Given the description of an element on the screen output the (x, y) to click on. 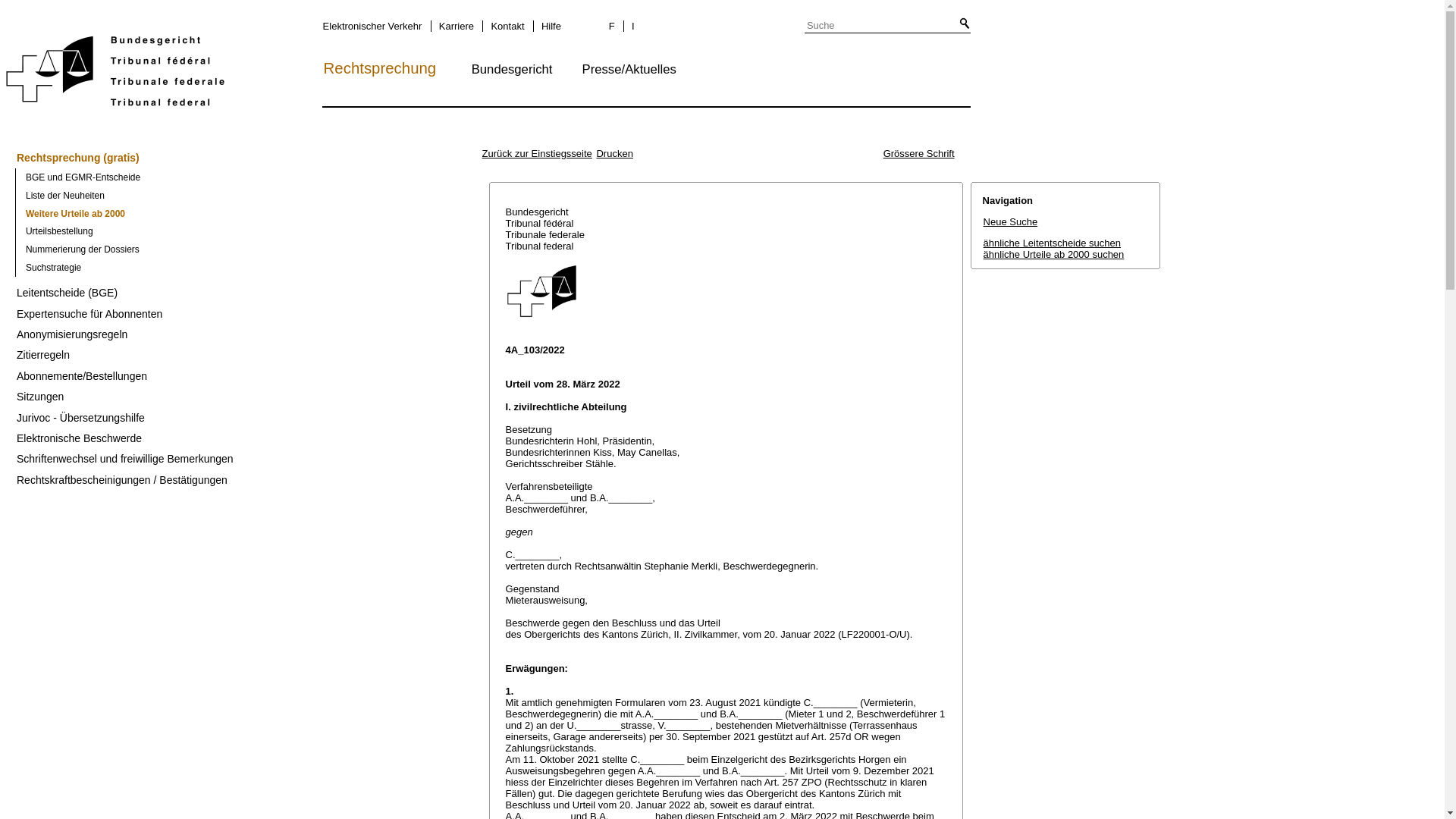
Bundesgericht Element type: text (524, 69)
F Element type: text (614, 25)
Kontakt Element type: text (506, 25)
Rechtsprechung Element type: text (395, 68)
Suchstrategie Element type: text (226, 267)
Hilfe Element type: text (550, 25)
Presse/Aktuelles Element type: text (641, 69)
Anonymisierungsregeln Element type: text (221, 334)
BGE und EGMR-Entscheide Element type: text (226, 177)
Rechtsprechung (gratis) Element type: text (221, 157)
Urteilsbestellung Element type: text (226, 231)
Weitere Urteile ab 2000 Element type: text (226, 213)
Suche aktivieren Element type: text (961, 23)
Nummerierung der Dossiers Element type: text (226, 249)
Neue Suche Element type: text (1010, 221)
Homepage Element type: hover (114, 73)
Abonnemente/Bestellungen Element type: text (221, 376)
Sitzungen Element type: text (221, 396)
Drucken Element type: text (614, 153)
Schriftenwechsel und freiwillige Bemerkungen Element type: text (221, 458)
Elektronische Beschwerde Element type: text (221, 438)
Liste der Neuheiten Element type: text (226, 195)
Zitierregeln Element type: text (221, 355)
I Element type: text (632, 25)
Suche Element type: hover (877, 25)
Karriere Element type: text (454, 25)
Leitentscheide (BGE) Element type: text (221, 292)
Elektronischer Verkehr Element type: text (374, 25)
